Given the description of an element on the screen output the (x, y) to click on. 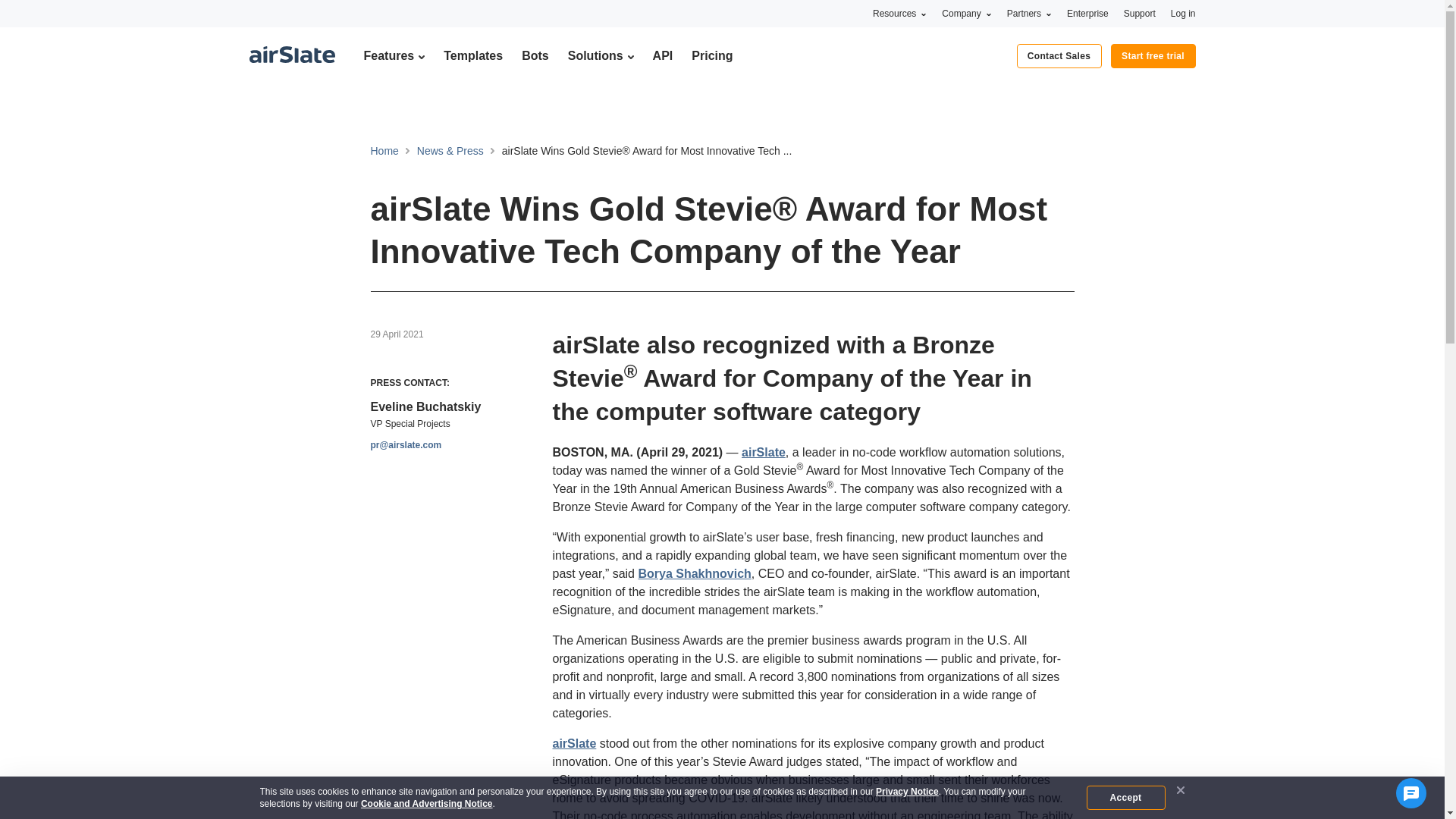
airSlate.com (291, 55)
Log in (1182, 13)
Enterprise (1087, 13)
Company (966, 13)
Partners (1029, 13)
Resources (899, 13)
Templates (473, 55)
Support (1140, 13)
